Given the description of an element on the screen output the (x, y) to click on. 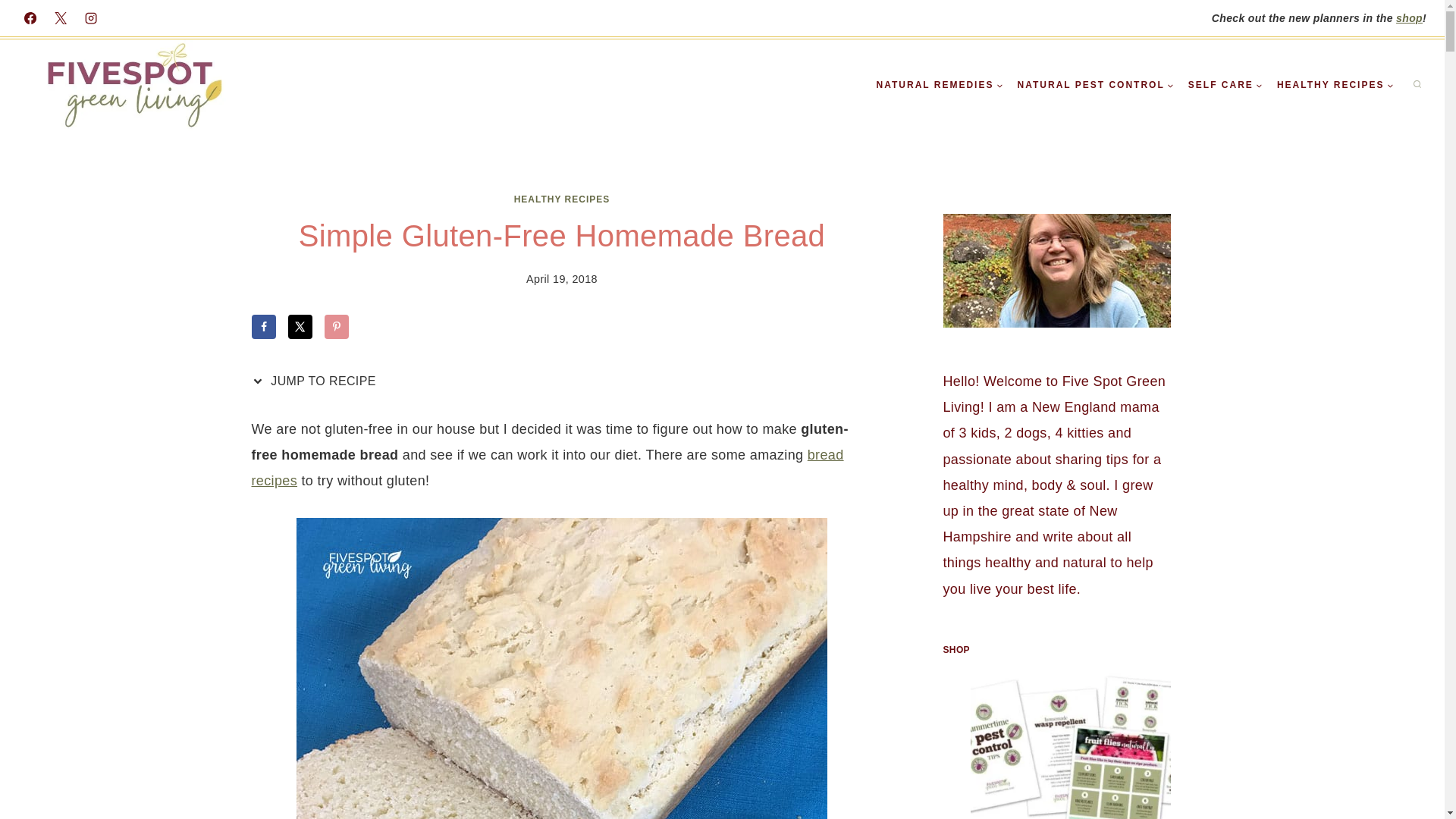
HEALTHY RECIPES (561, 199)
NATURAL PEST CONTROL (1095, 85)
Share on X (300, 326)
HEALTHY RECIPES (1334, 85)
NATURAL REMEDIES (939, 85)
shop (1409, 18)
Save to Pinterest (336, 326)
Share on Facebook (263, 326)
SELF CARE (1224, 85)
bread recipes (547, 467)
JUMP TO RECIPE (317, 381)
